Given the description of an element on the screen output the (x, y) to click on. 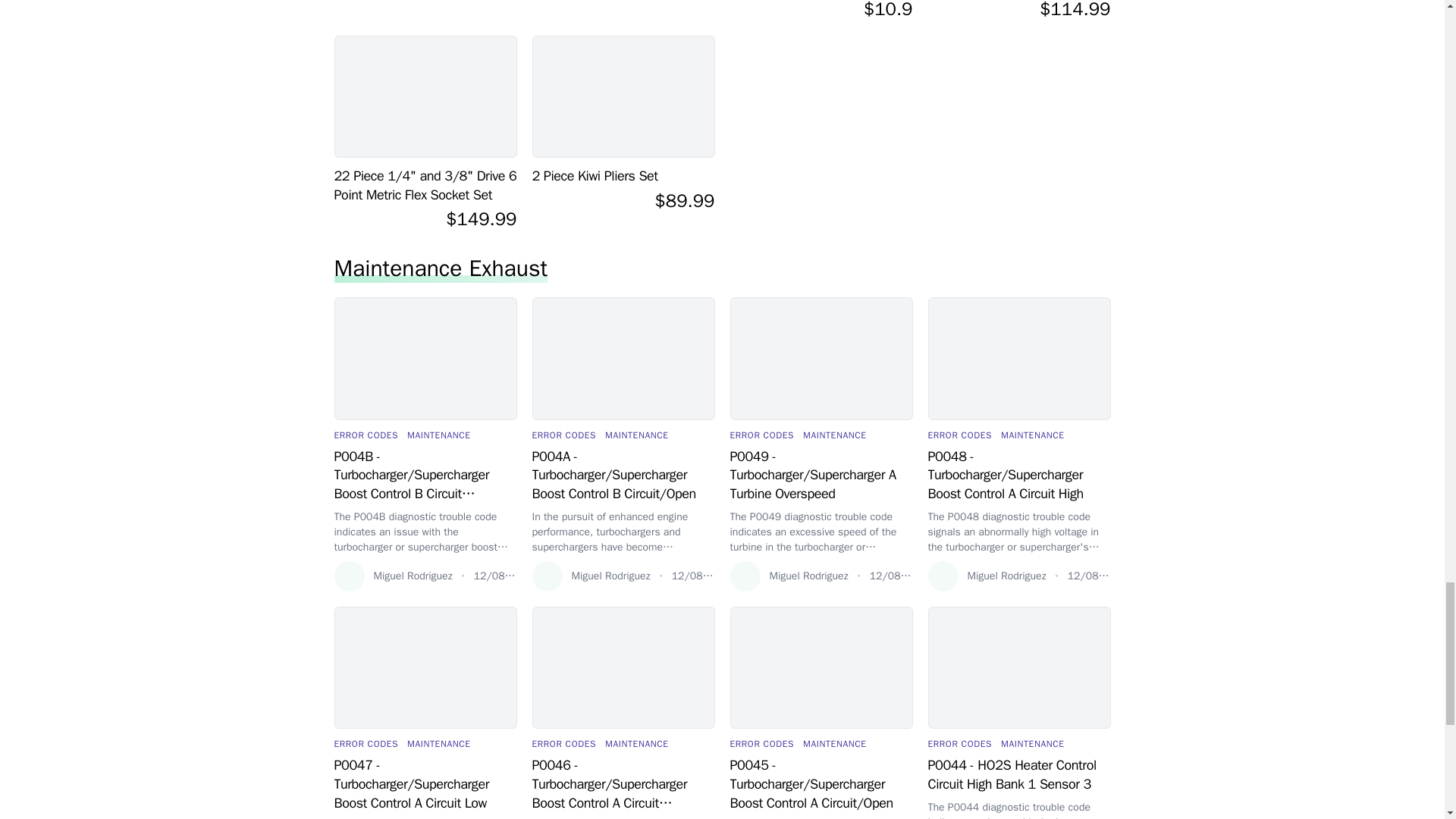
ERROR CODES (365, 435)
2 Piece Kiwi Pliers Set (623, 176)
MAINTENANCE (636, 435)
Error Codes (365, 435)
2 Piece Kiwi Pliers Set (623, 176)
Miguel Rodriguez (392, 576)
MAINTENANCE (438, 435)
Maintenance (438, 435)
